Given the description of an element on the screen output the (x, y) to click on. 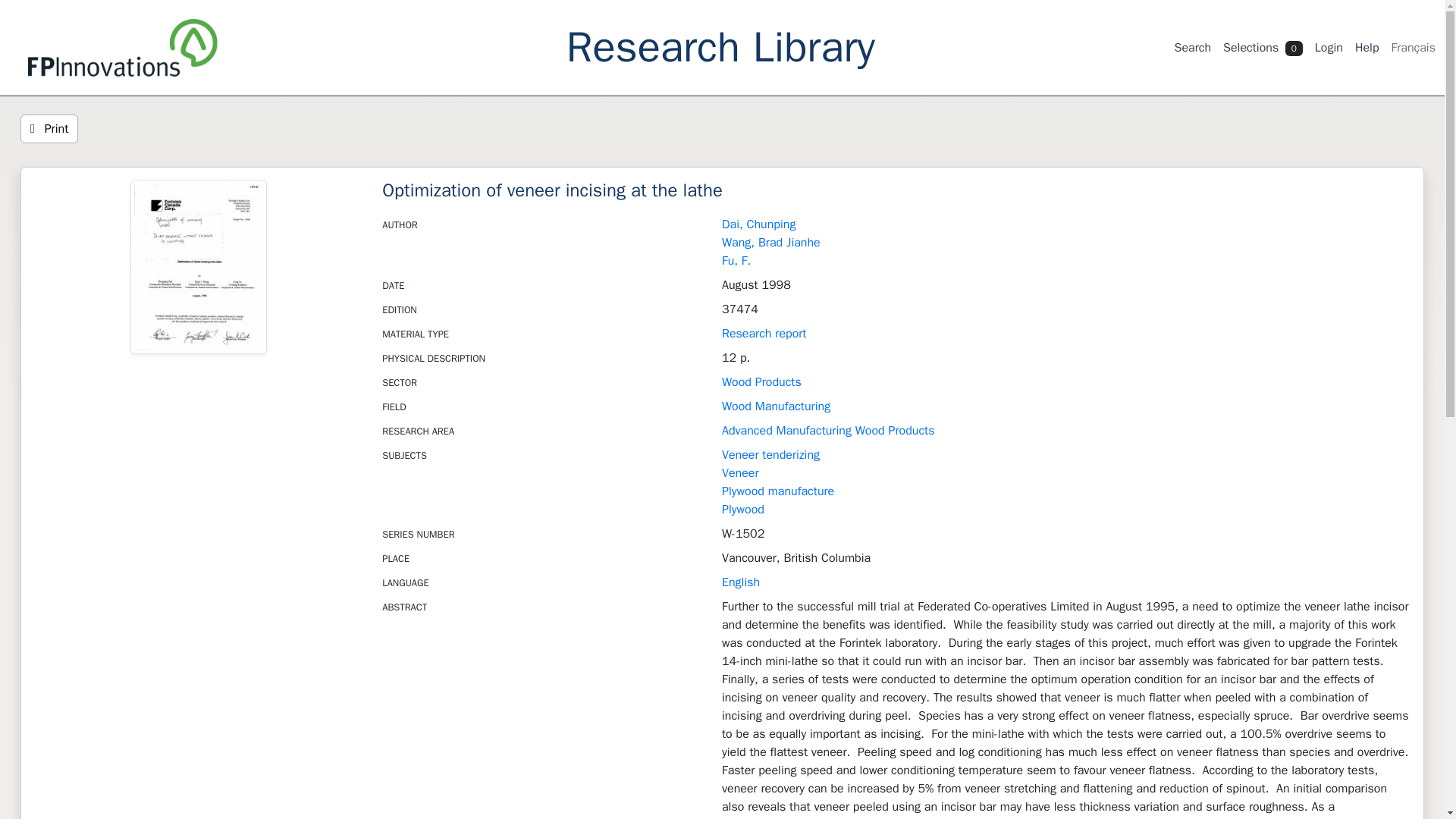
Plywood manufacture (778, 491)
Selections 0 (1262, 47)
Print (49, 128)
Wang, Brad Jianhe (771, 242)
Wood Manufacturing (775, 406)
Fu, F. (736, 260)
Search (1192, 47)
Dai, Chunping (758, 224)
Wood Products (762, 381)
Plywood (743, 509)
